Given the description of an element on the screen output the (x, y) to click on. 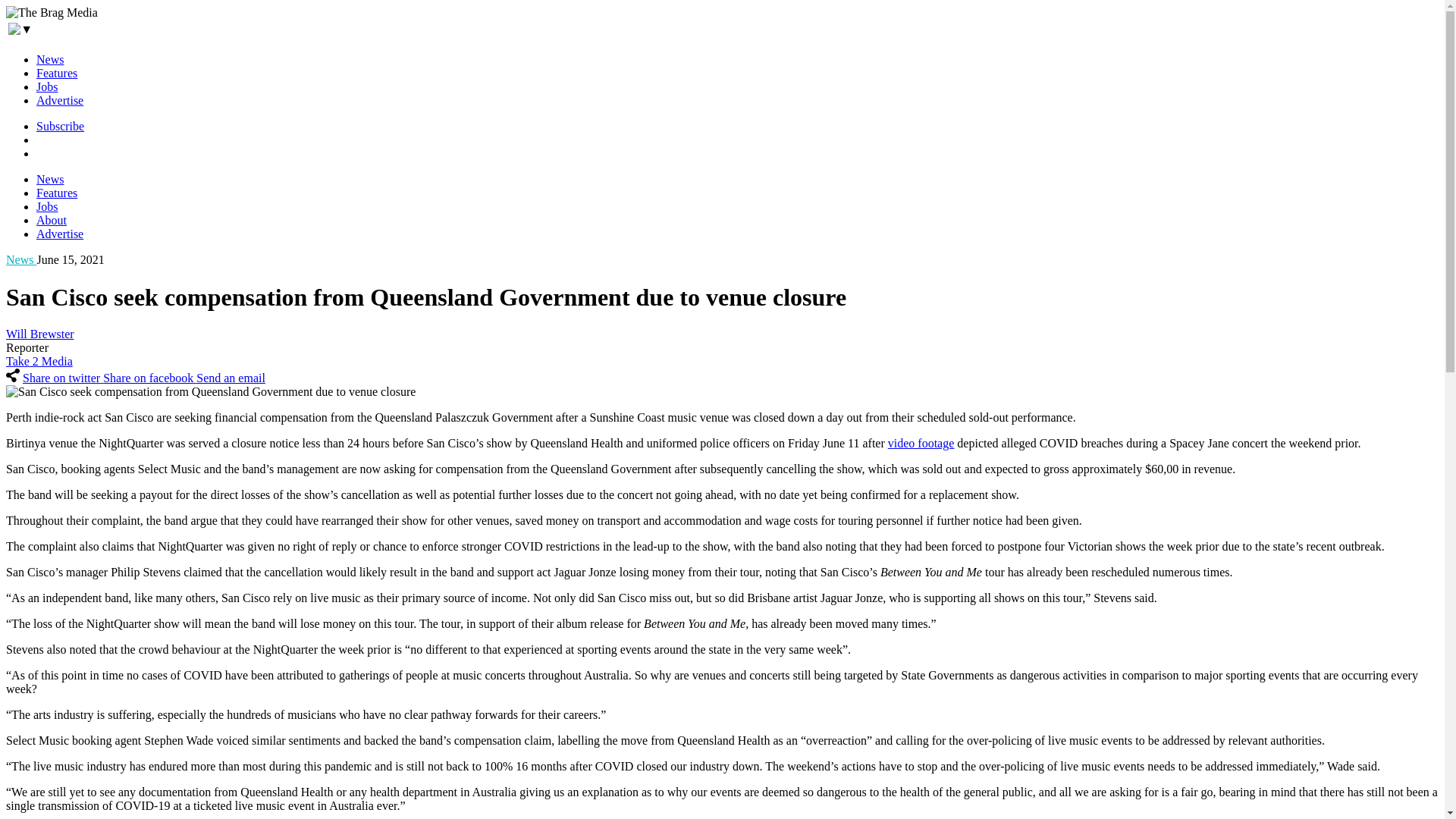
The Brag Media (51, 12)
News (50, 59)
Features (56, 72)
Jobs (47, 86)
Subscribe (60, 125)
Advertise (59, 100)
